Given the description of an element on the screen output the (x, y) to click on. 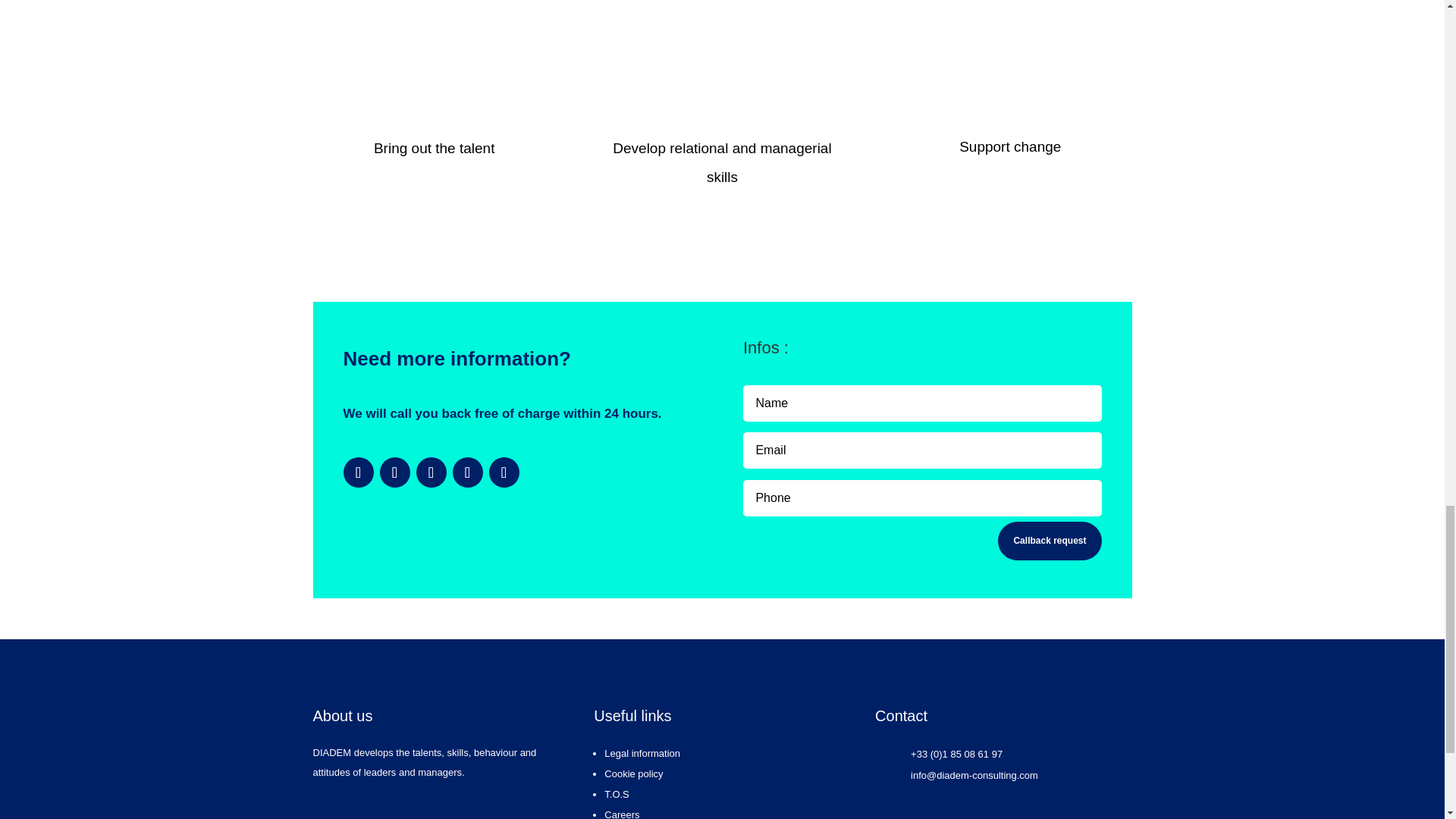
Follow on Pinterest (502, 472)
Follow on LinkedIn (429, 472)
Only letters allowed. (921, 402)
Follow on X (357, 472)
Follow on TikTok (466, 472)
Follow on Facebook (393, 472)
